Given the description of an element on the screen output the (x, y) to click on. 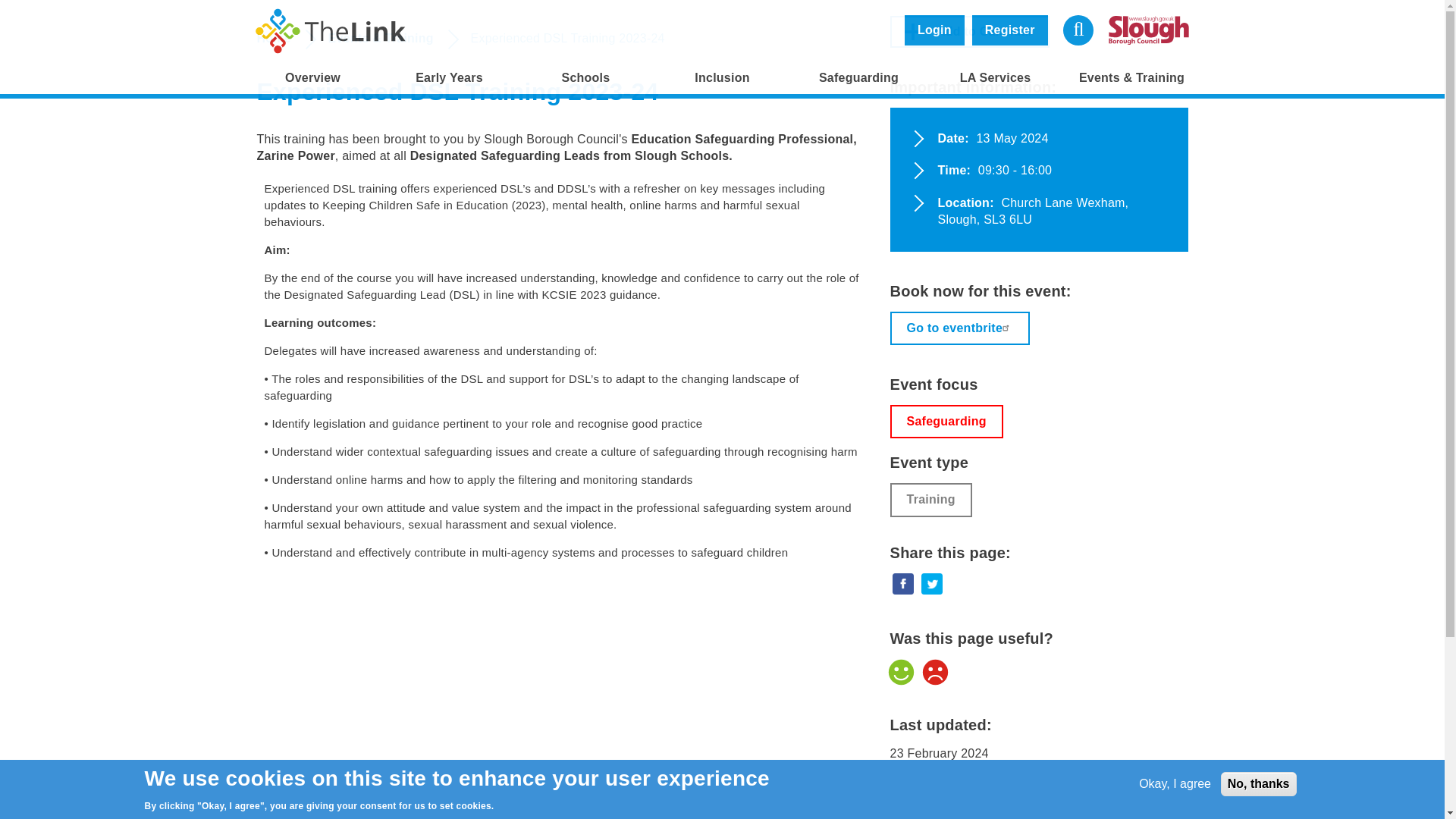
Register (1010, 30)
Login (933, 30)
Home (330, 30)
Schools (584, 78)
Early Years (448, 78)
Overview (312, 78)
